Given the description of an element on the screen output the (x, y) to click on. 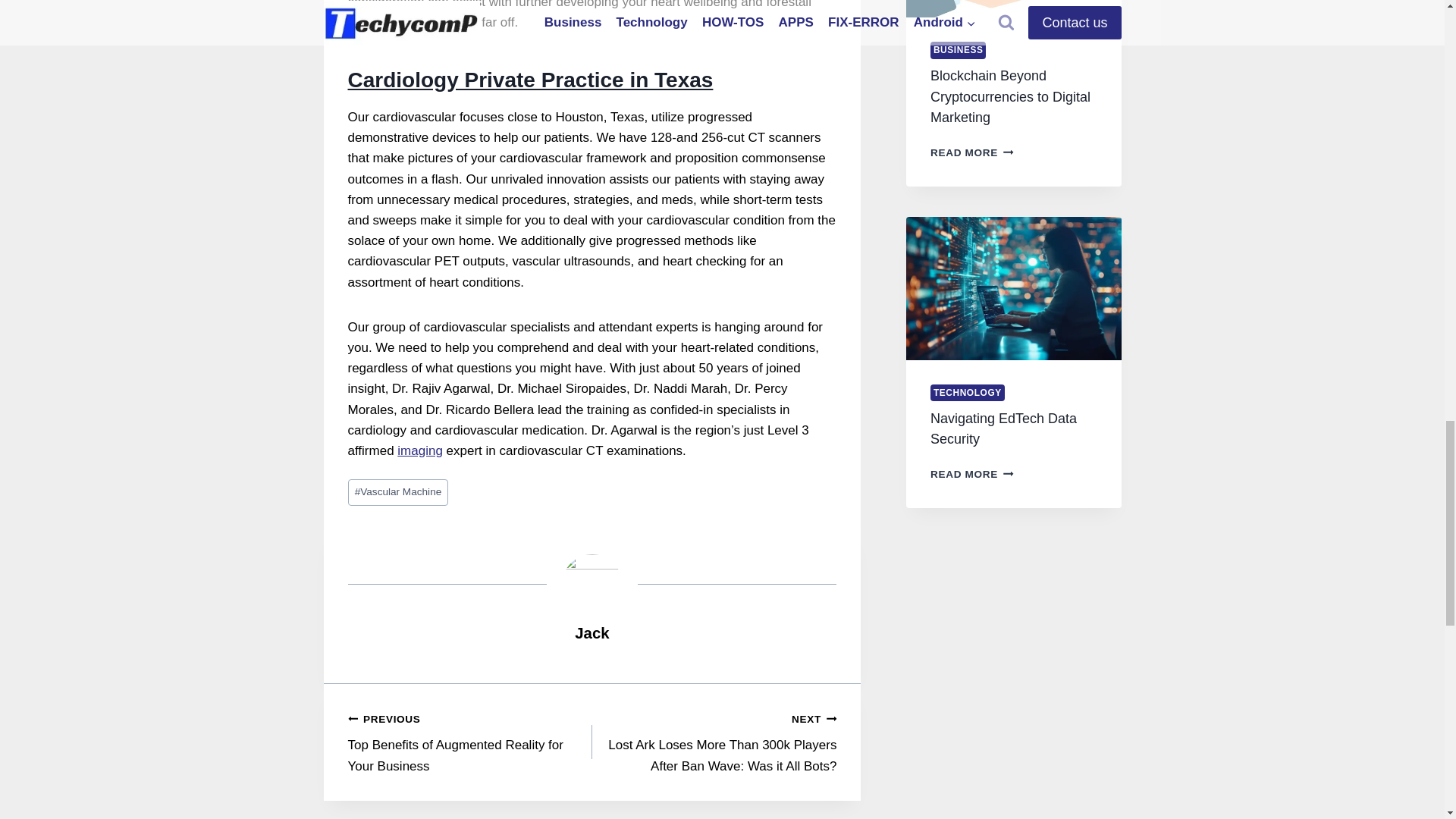
Jack (469, 742)
Posts by Jack (591, 632)
imaging (591, 632)
Vascular Machine (419, 450)
